Given the description of an element on the screen output the (x, y) to click on. 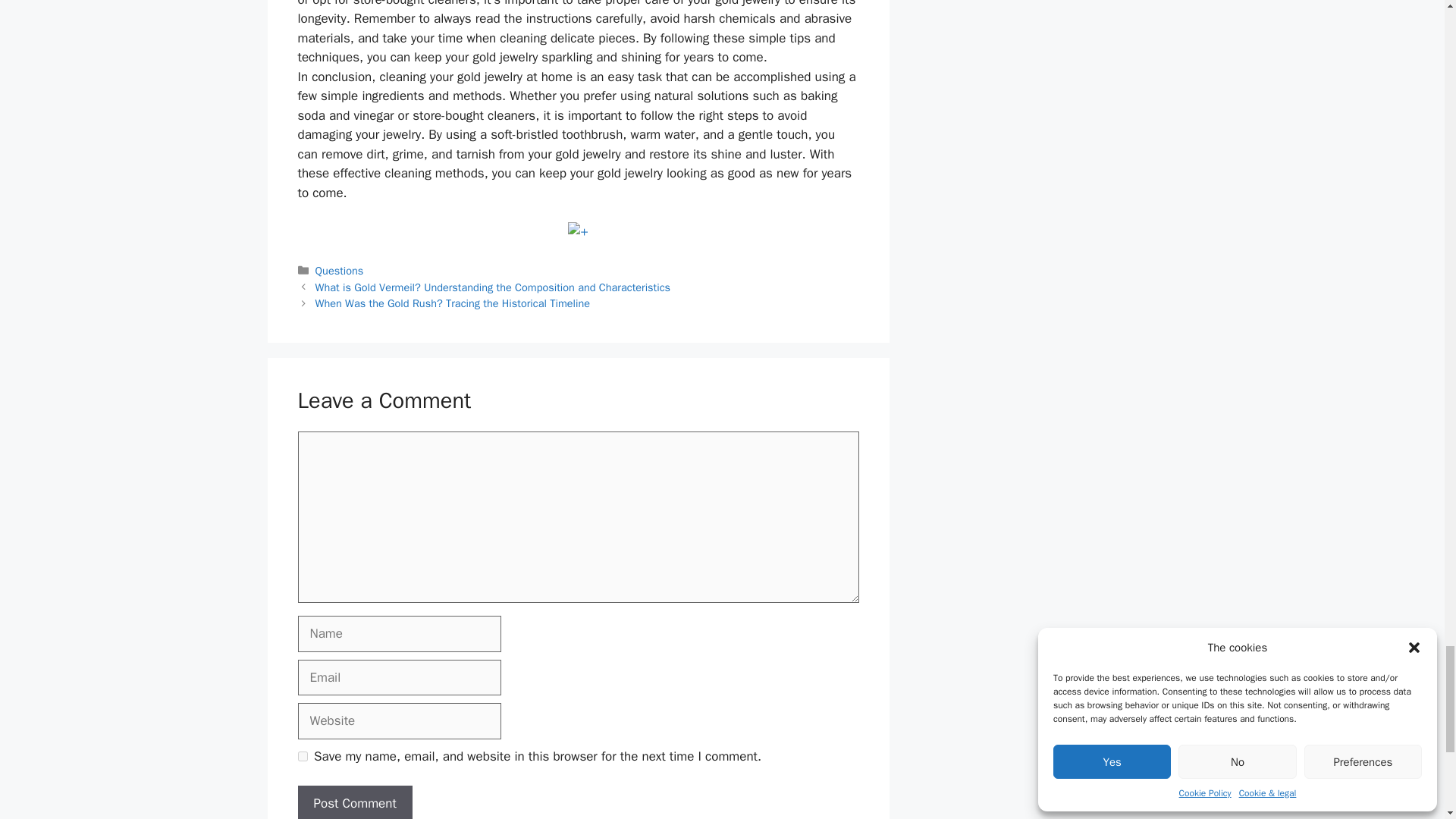
Post Comment (354, 802)
yes (302, 756)
